Given the description of an element on the screen output the (x, y) to click on. 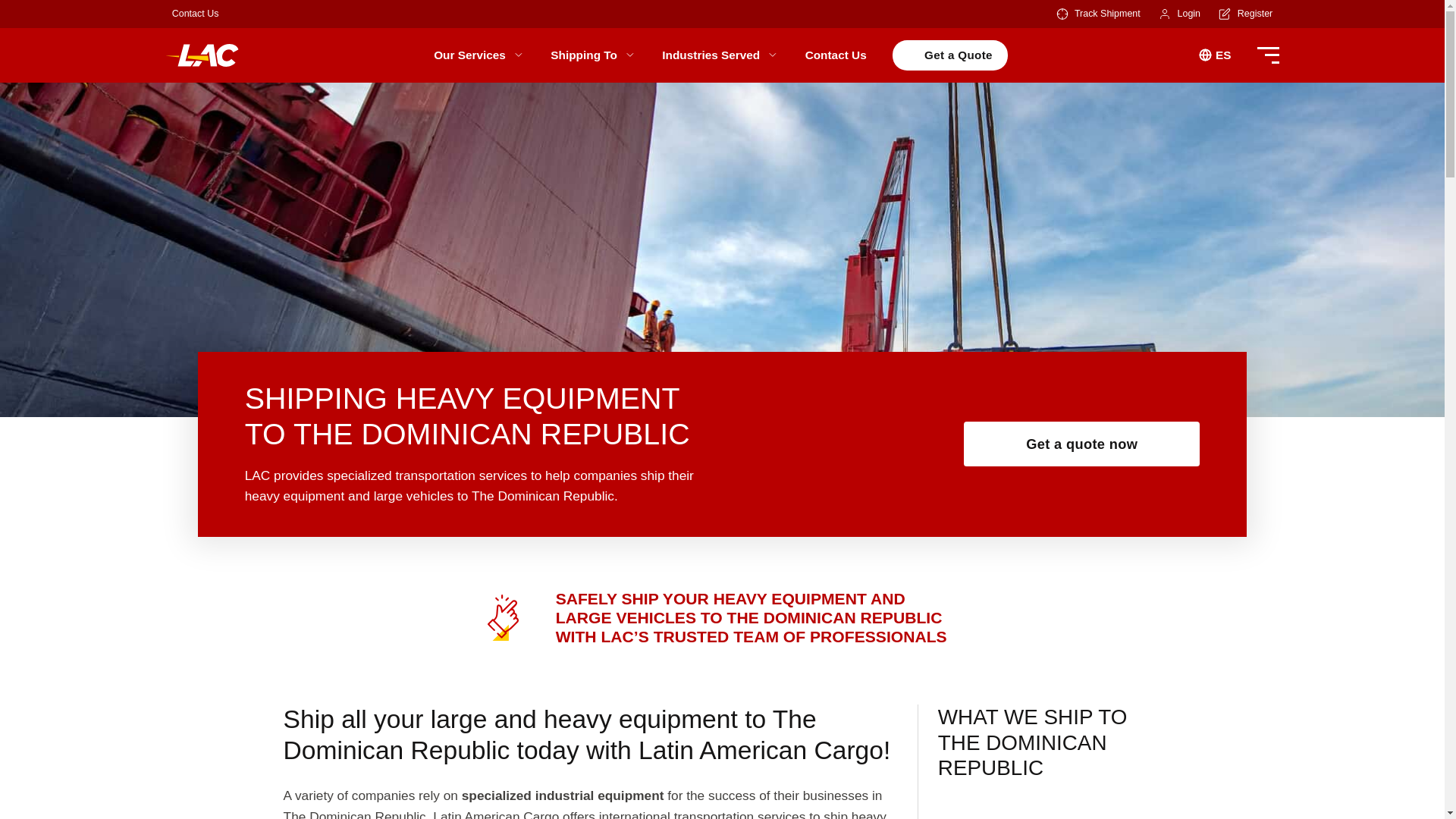
Track Shipment (1107, 13)
Shipping To (593, 54)
Contact Us (195, 13)
Register (1254, 13)
Login (1189, 13)
Our Services (478, 54)
